Given the description of an element on the screen output the (x, y) to click on. 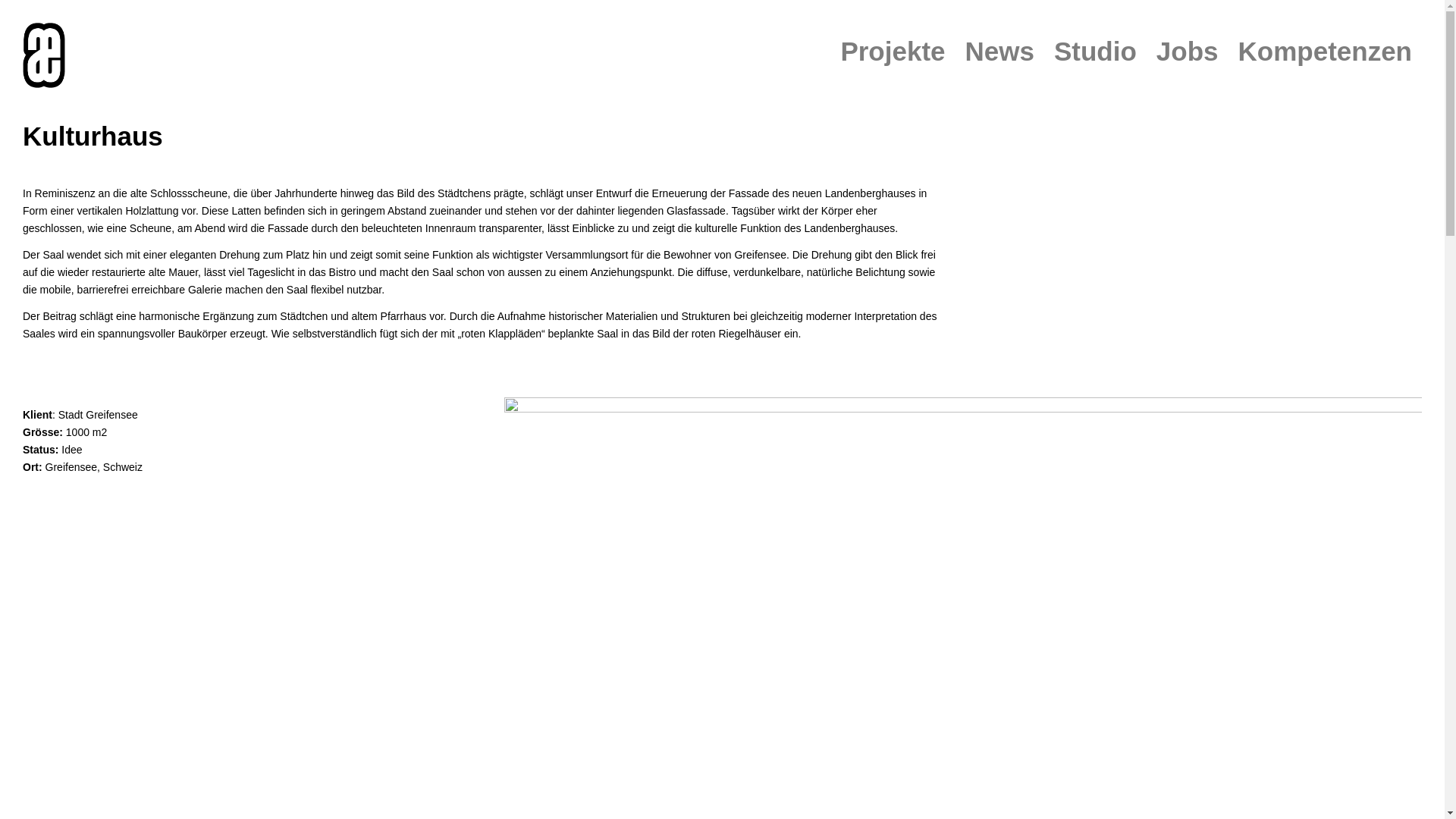
Studio Element type: text (1095, 50)
ae-studio-logo Element type: hover (43, 60)
News Element type: text (999, 50)
Projekte Element type: text (892, 50)
Kompetenzen Element type: text (1324, 50)
Jobs Element type: text (1187, 50)
